Given the description of an element on the screen output the (x, y) to click on. 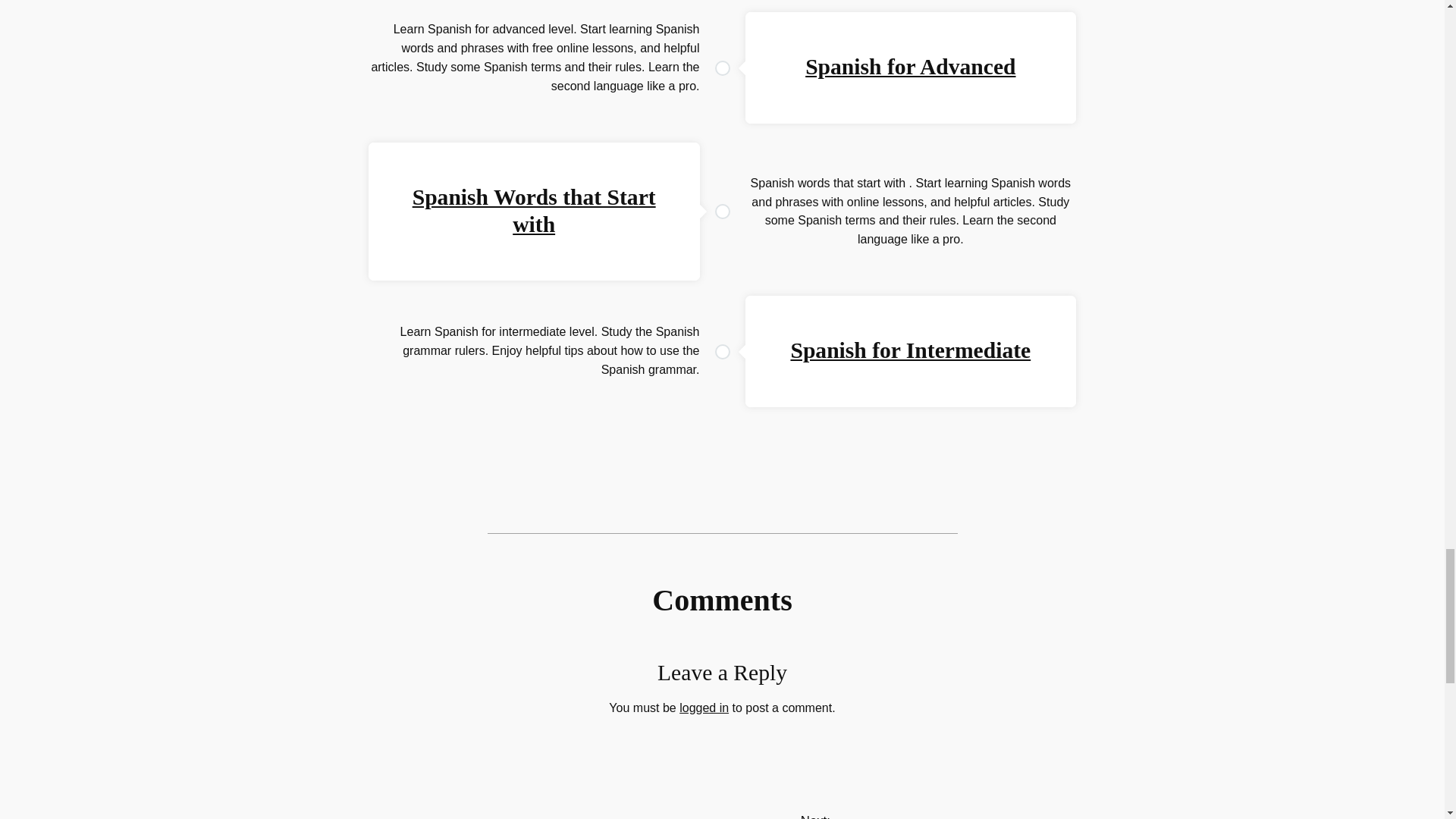
Spanish Words that Start with (534, 210)
logged in (704, 707)
Spanish for Intermediate (910, 350)
Spanish for Advanced (909, 66)
